Given the description of an element on the screen output the (x, y) to click on. 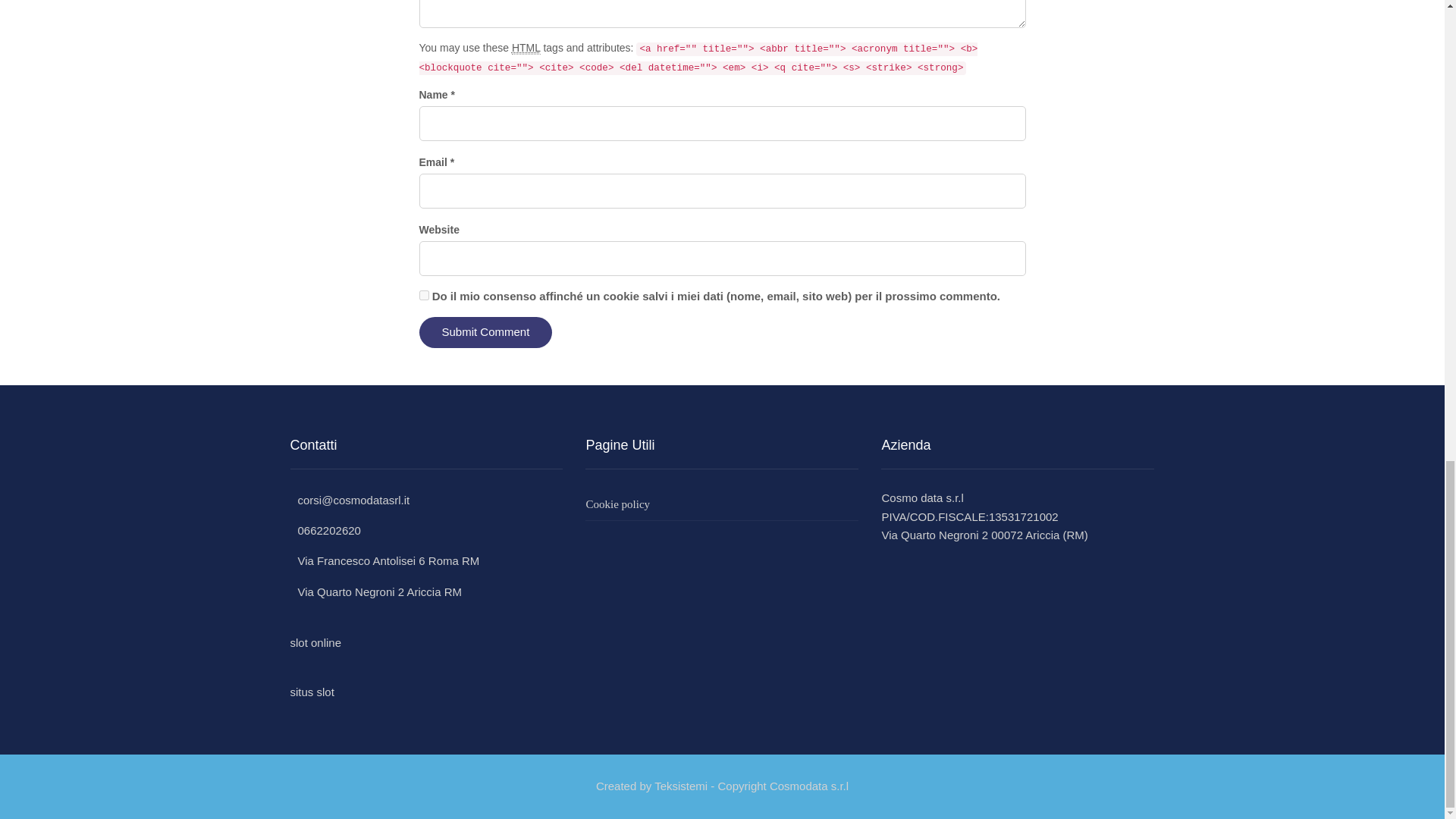
Submit Comment (485, 332)
Via Francesco Antolisei 6 Roma RM (384, 560)
situs slot (311, 691)
HyperText Markup Language (526, 47)
Submit Comment (485, 332)
Cookie policy (722, 504)
slot online (314, 642)
yes (423, 295)
